Given the description of an element on the screen output the (x, y) to click on. 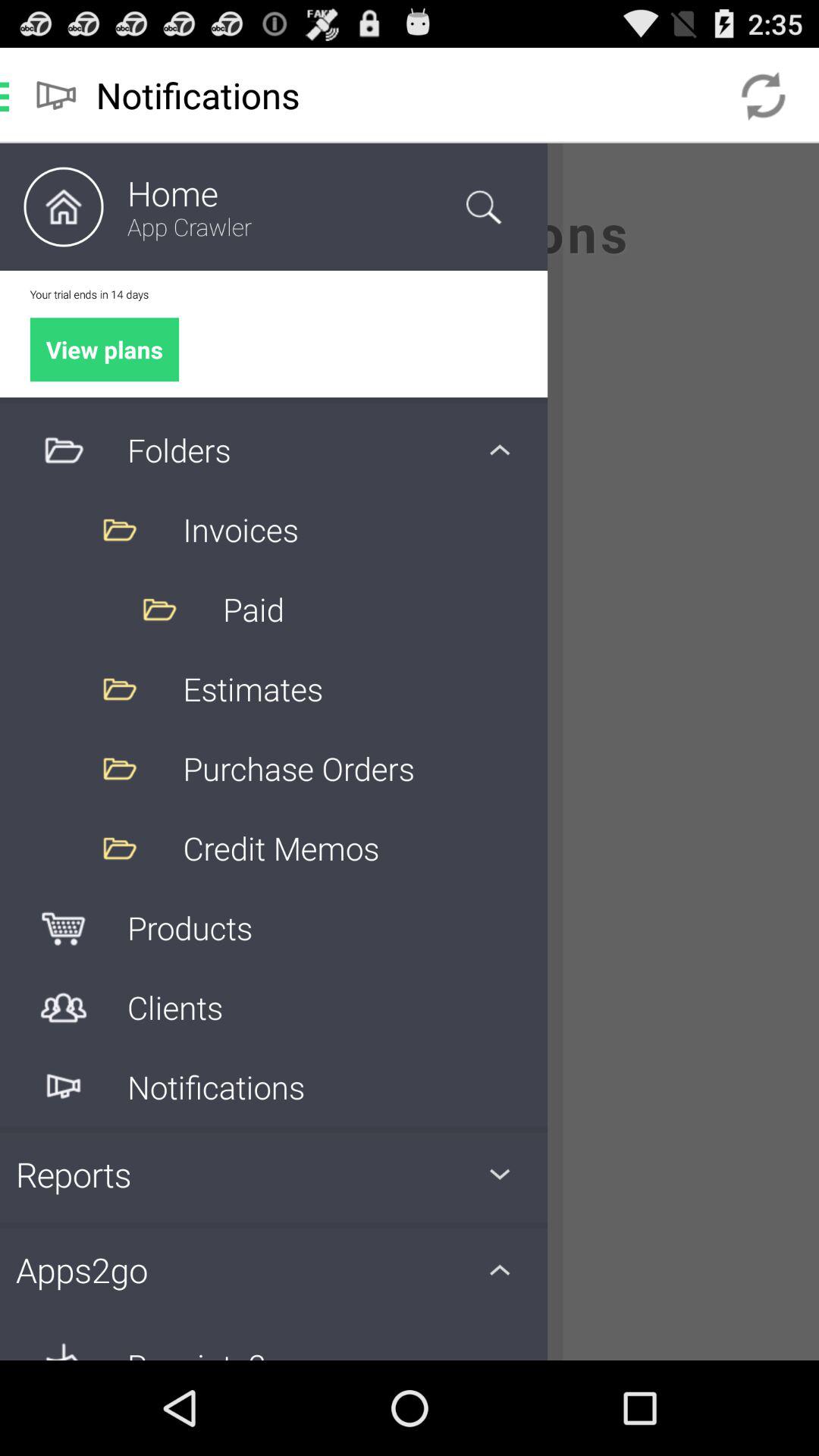
select the button right to the folders (499, 449)
